Given the description of an element on the screen output the (x, y) to click on. 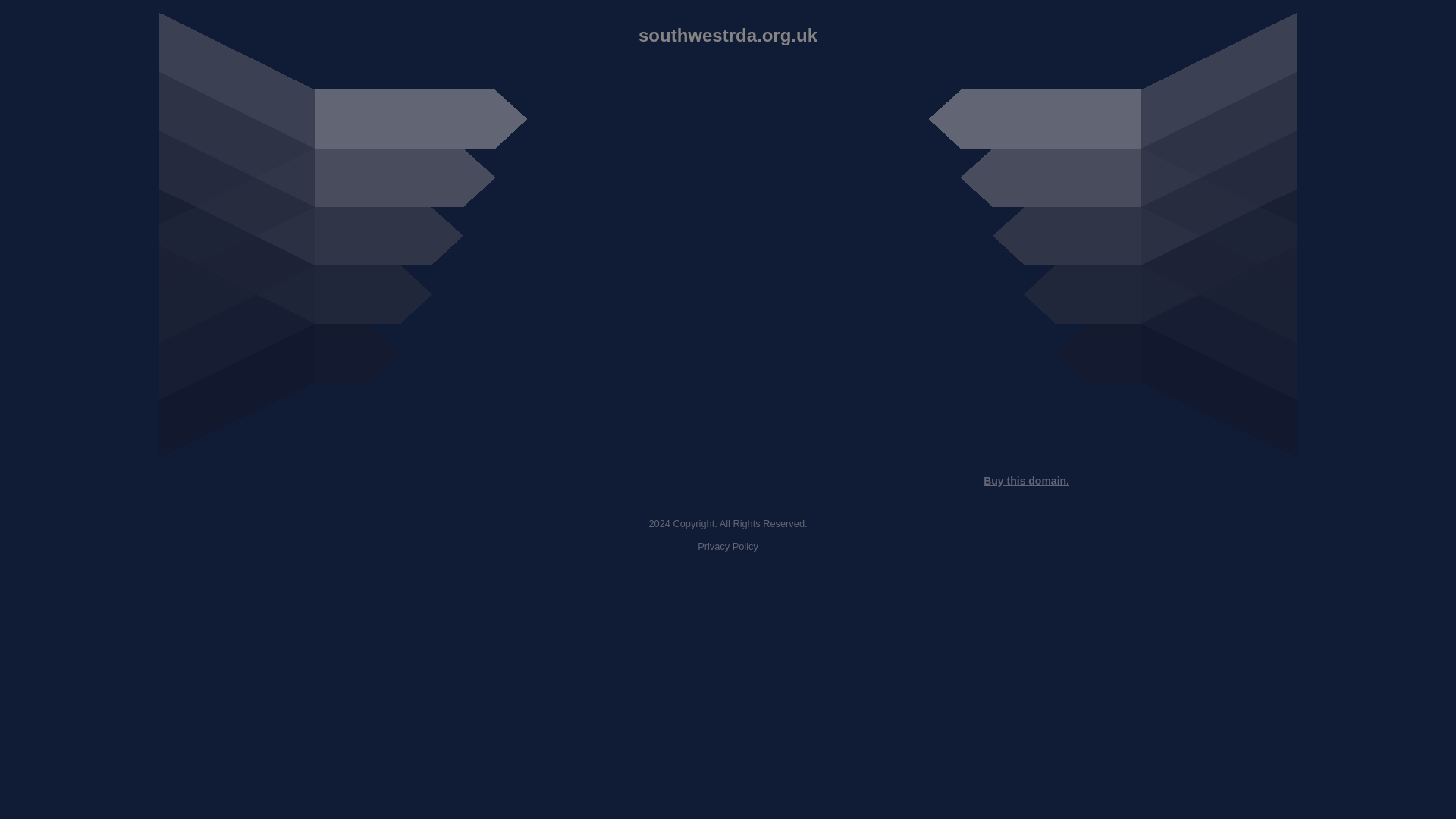
Privacy Policy (727, 546)
Buy this domain. (1026, 480)
